Given the description of an element on the screen output the (x, y) to click on. 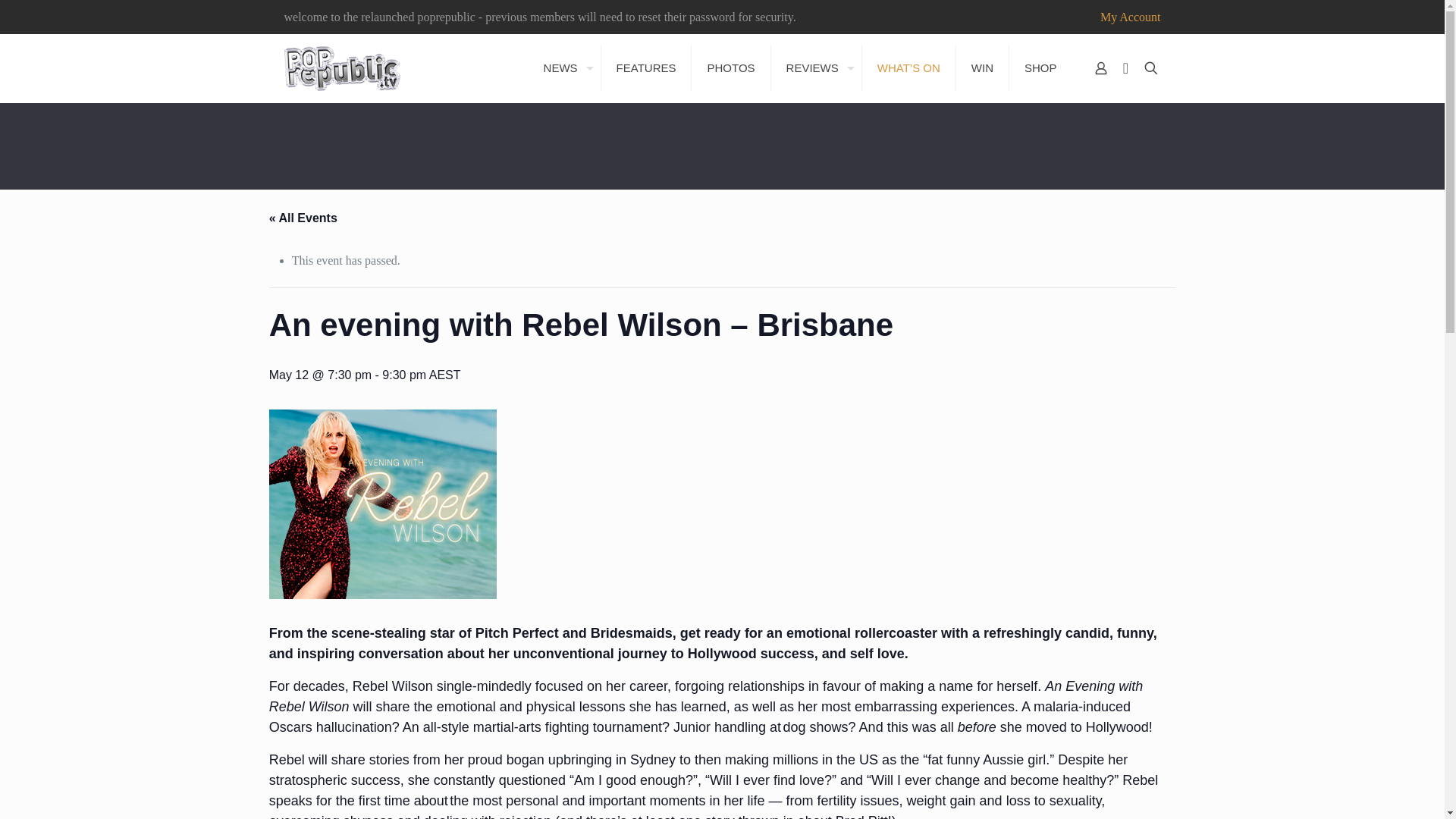
REVIEWS (816, 68)
SHOP (1040, 68)
My Account (1130, 16)
WIN (982, 68)
POPrepublic.tv (341, 68)
NEWS (564, 68)
FEATURES (647, 68)
PHOTOS (730, 68)
